Given the description of an element on the screen output the (x, y) to click on. 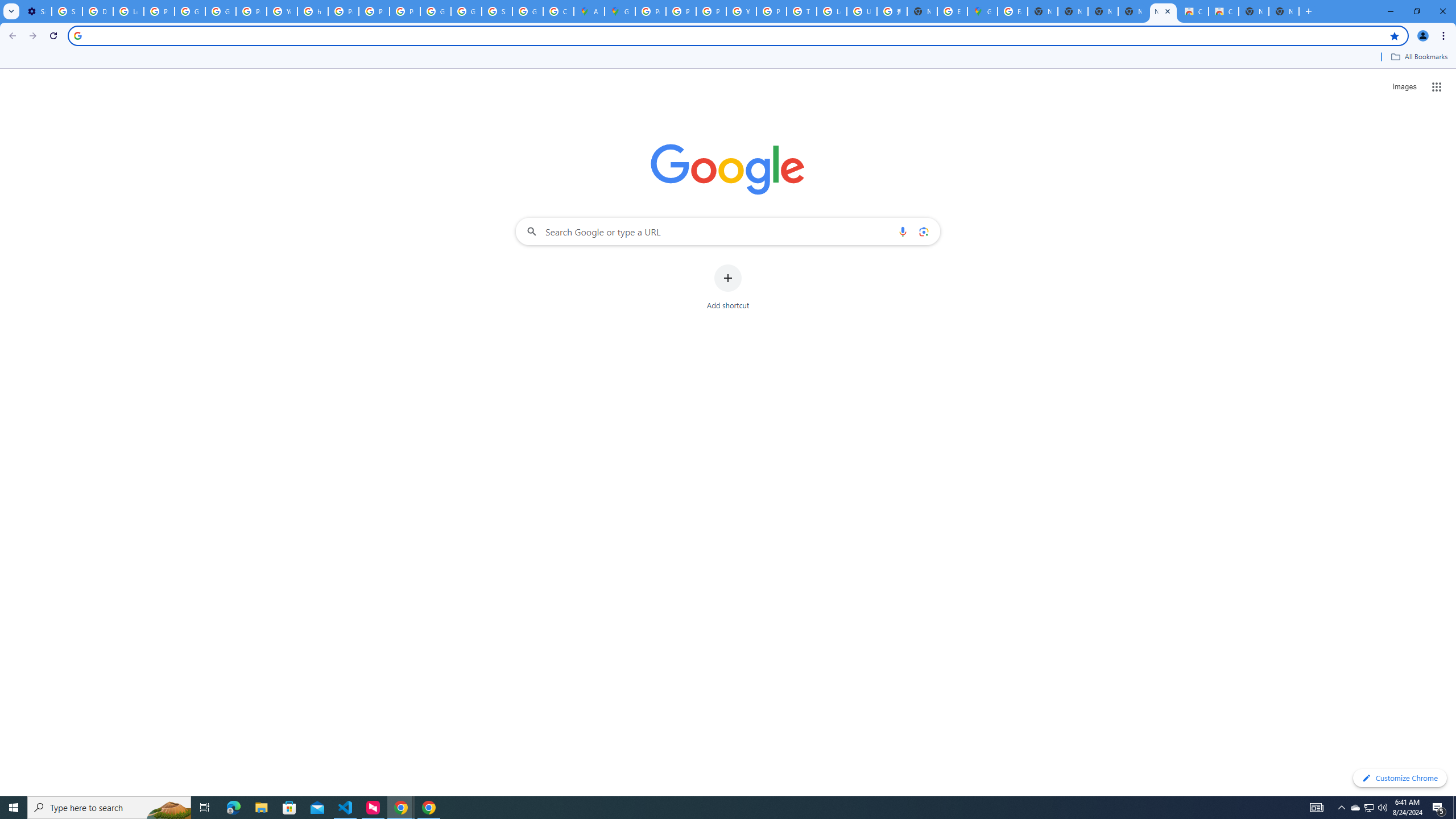
Search Google or type a URL (727, 230)
Google Maps (619, 11)
Privacy Help Center - Policies Help (681, 11)
Tips & tricks for Chrome - Google Chrome Help (801, 11)
Google Account Help (189, 11)
